Given the description of an element on the screen output the (x, y) to click on. 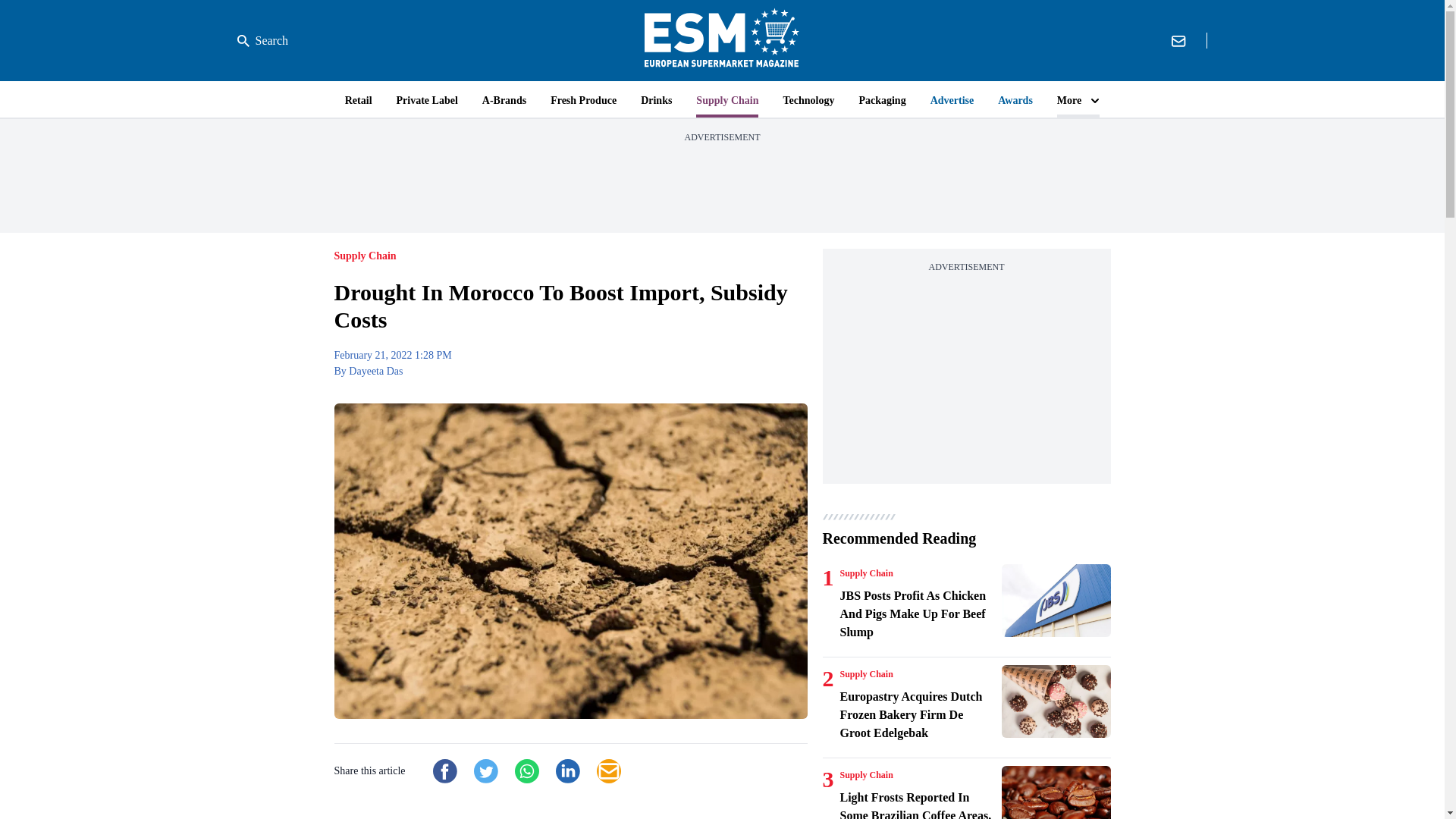
ESM (722, 40)
JBS Posts Profit As Chicken And Pigs Make Up For Beef Slump (917, 614)
Supply Chain (866, 674)
Supply Chain (866, 775)
JBS Posts Profit As Chicken And Pigs Make Up For Beef Slump (1055, 600)
Search (261, 40)
Supply Chain (866, 573)
